Given the description of an element on the screen output the (x, y) to click on. 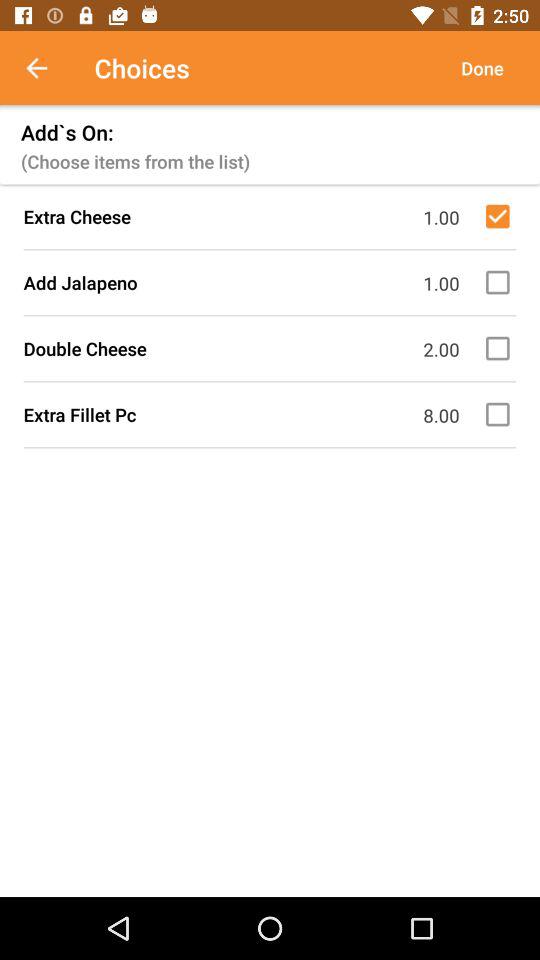
select item (501, 414)
